Given the description of an element on the screen output the (x, y) to click on. 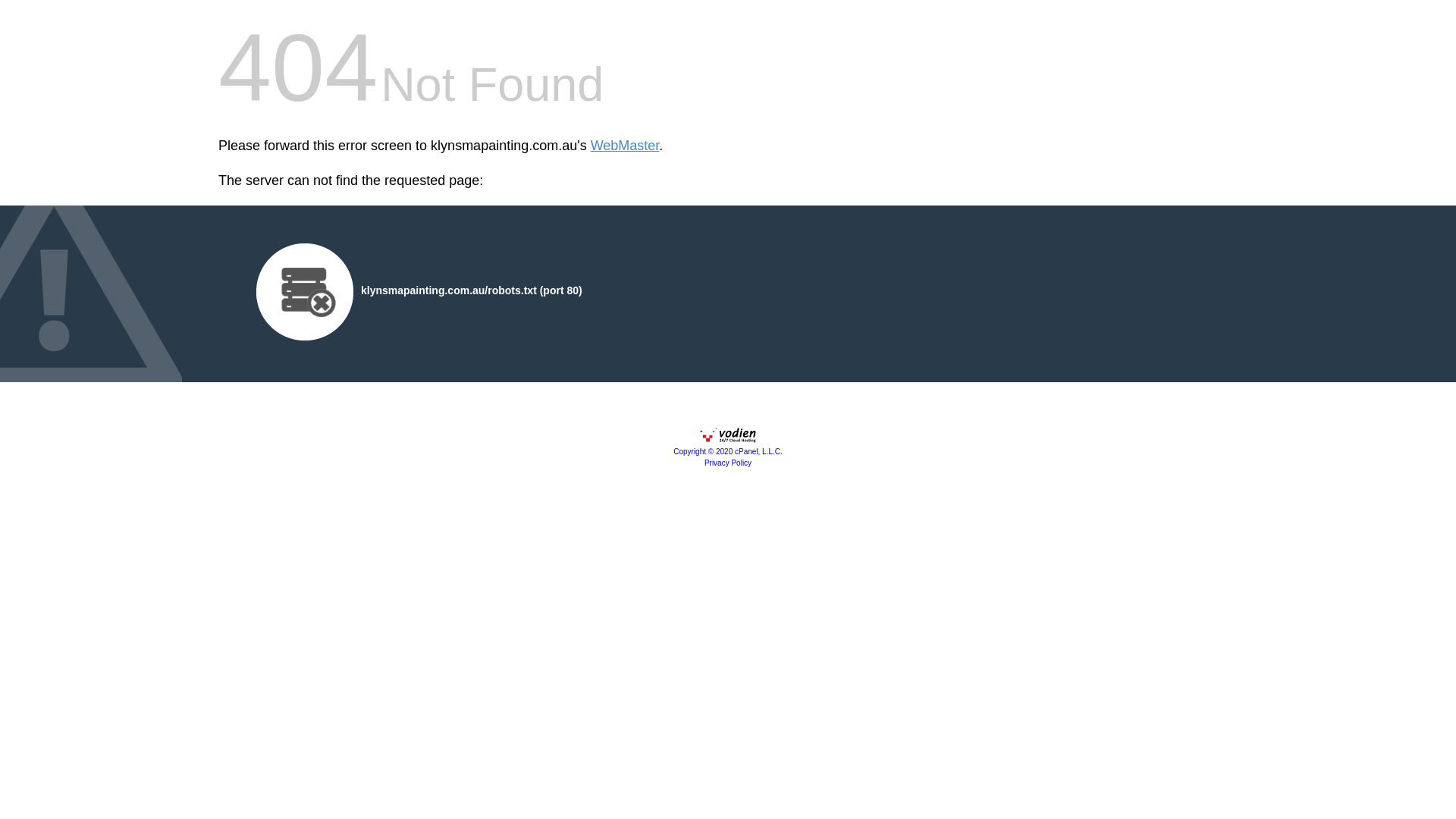
Privacy Policy Element type: text (727, 462)
cPanel, Inc. Element type: hover (727, 439)
WebMaster Element type: text (624, 145)
